Given the description of an element on the screen output the (x, y) to click on. 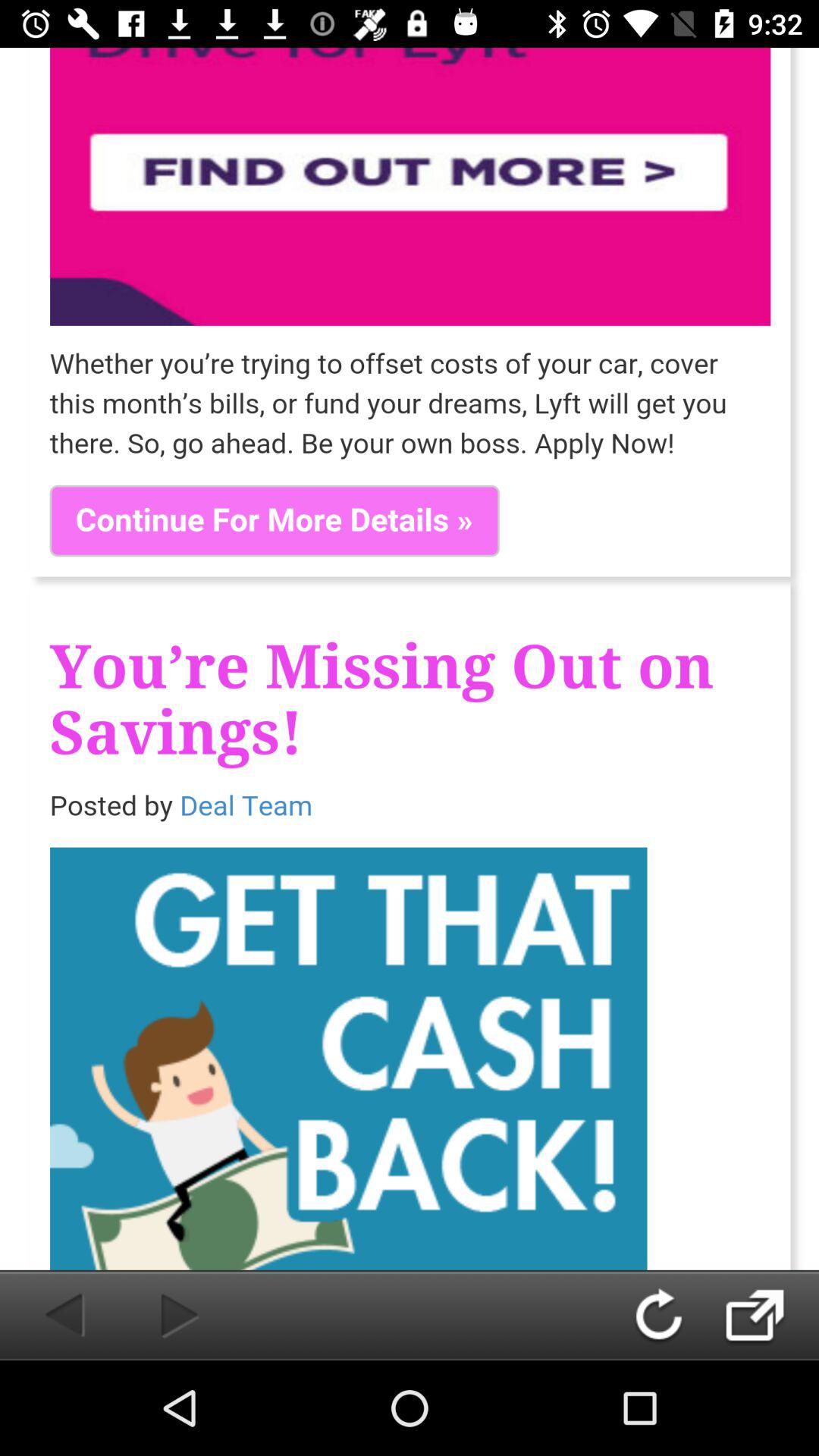
next button (770, 1315)
